Given the description of an element on the screen output the (x, y) to click on. 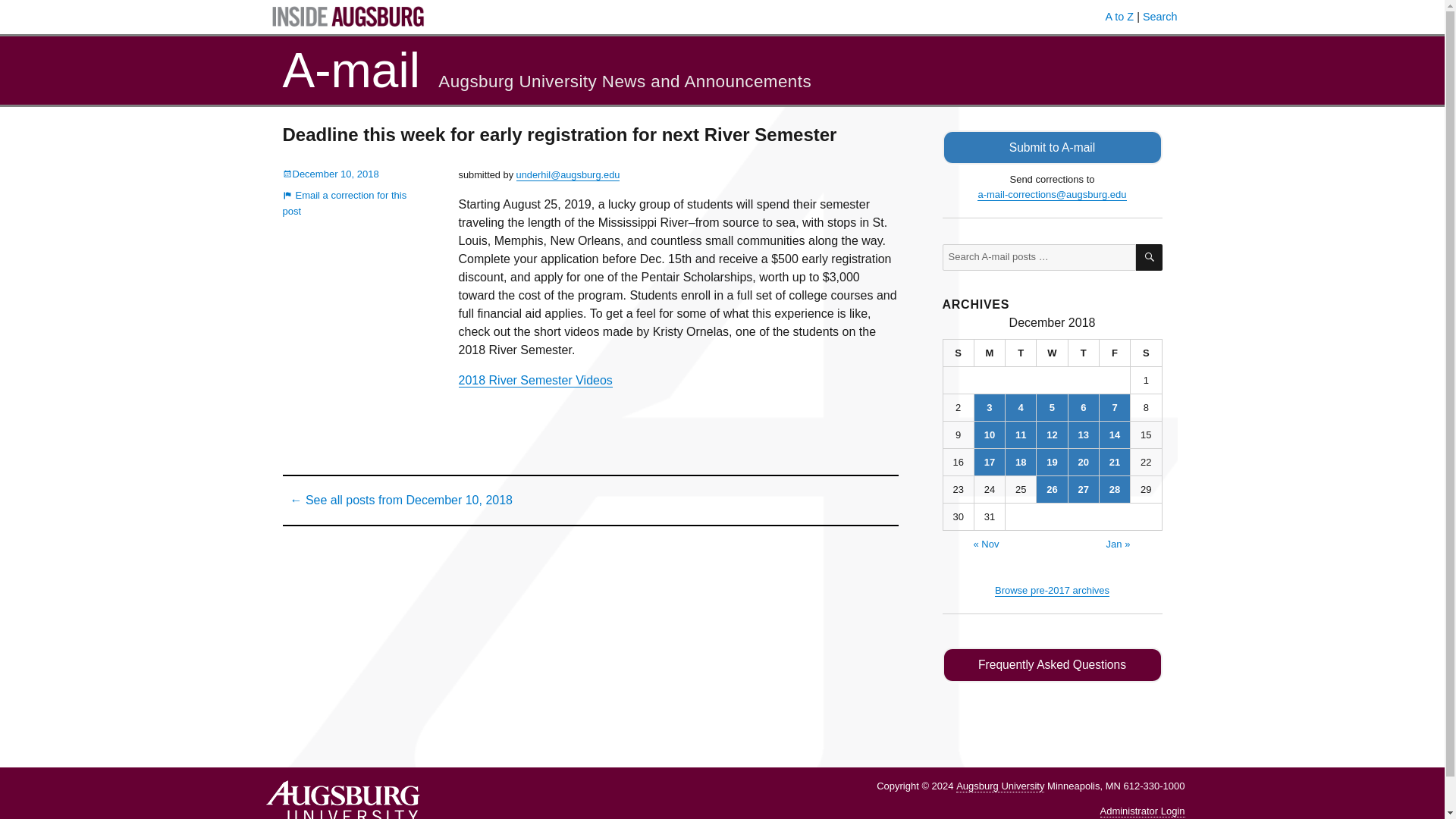
27 (1083, 488)
17 (989, 461)
21 (1114, 461)
Search (1159, 16)
Wednesday (1051, 352)
A-mail (350, 70)
Tuesday (1021, 352)
Augsburg University (999, 786)
SEARCH (1148, 257)
28 (1114, 488)
11 (1020, 434)
6 (1083, 406)
12 (1051, 434)
26 (1051, 488)
2018 River Semester Videos (534, 379)
